Given the description of an element on the screen output the (x, y) to click on. 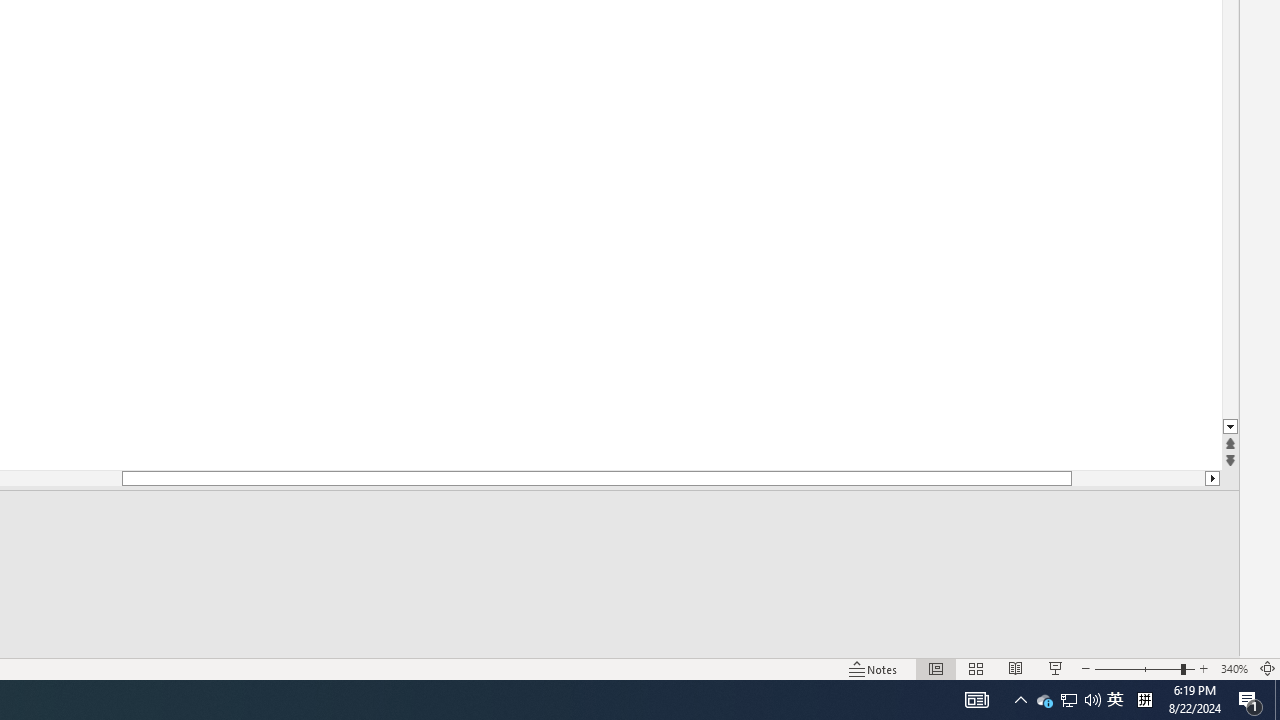
Zoom 340% (1234, 668)
